Given the description of an element on the screen output the (x, y) to click on. 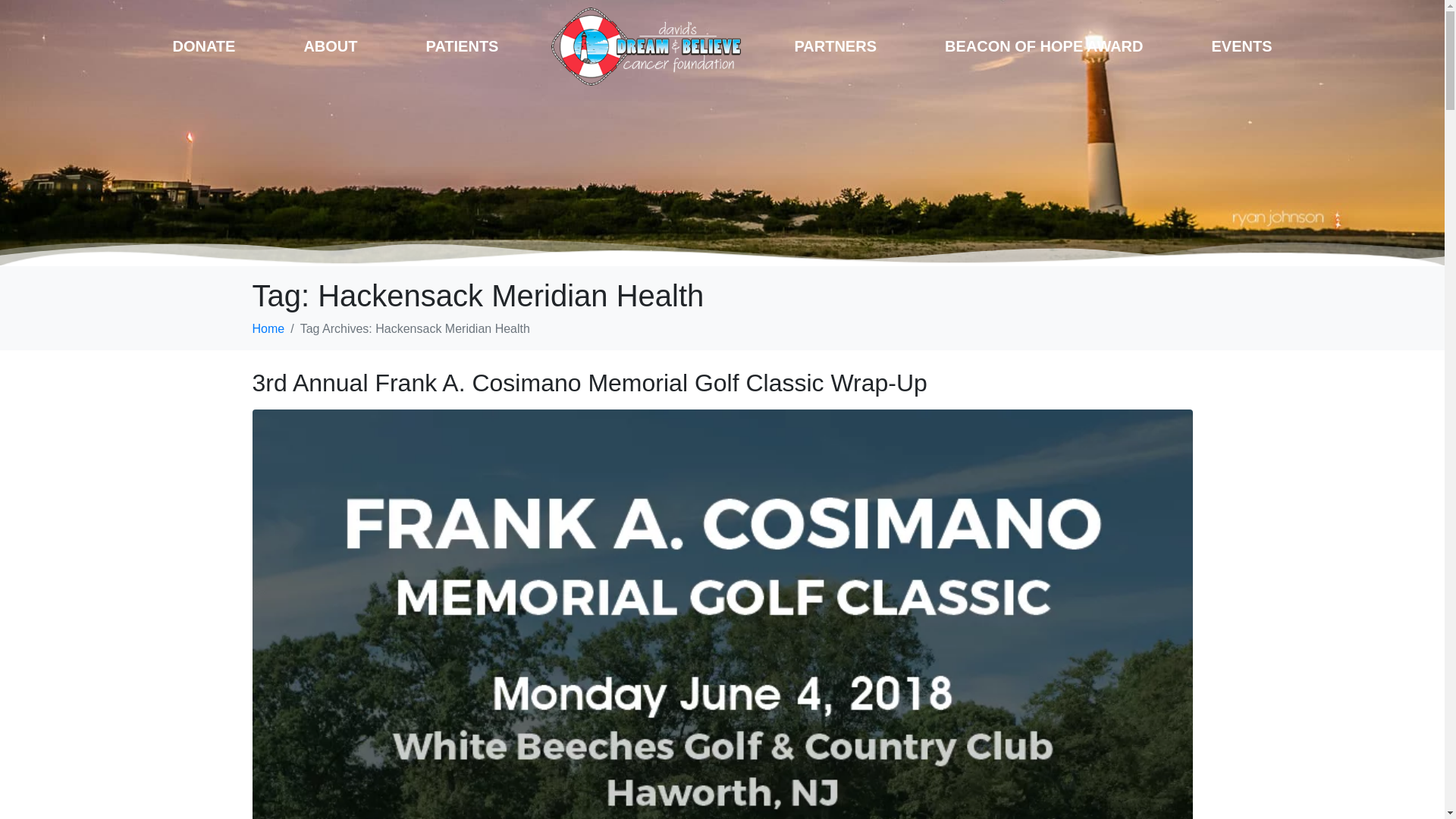
3rd Annual Frank A. Cosimano Memorial Golf Classic Wrap-Up (588, 382)
ABOUT (330, 46)
PARTNERS (834, 46)
DONATE (203, 46)
BEACON OF HOPE AWARD (1044, 46)
PATIENTS (461, 46)
EVENTS (1241, 46)
